Given the description of an element on the screen output the (x, y) to click on. 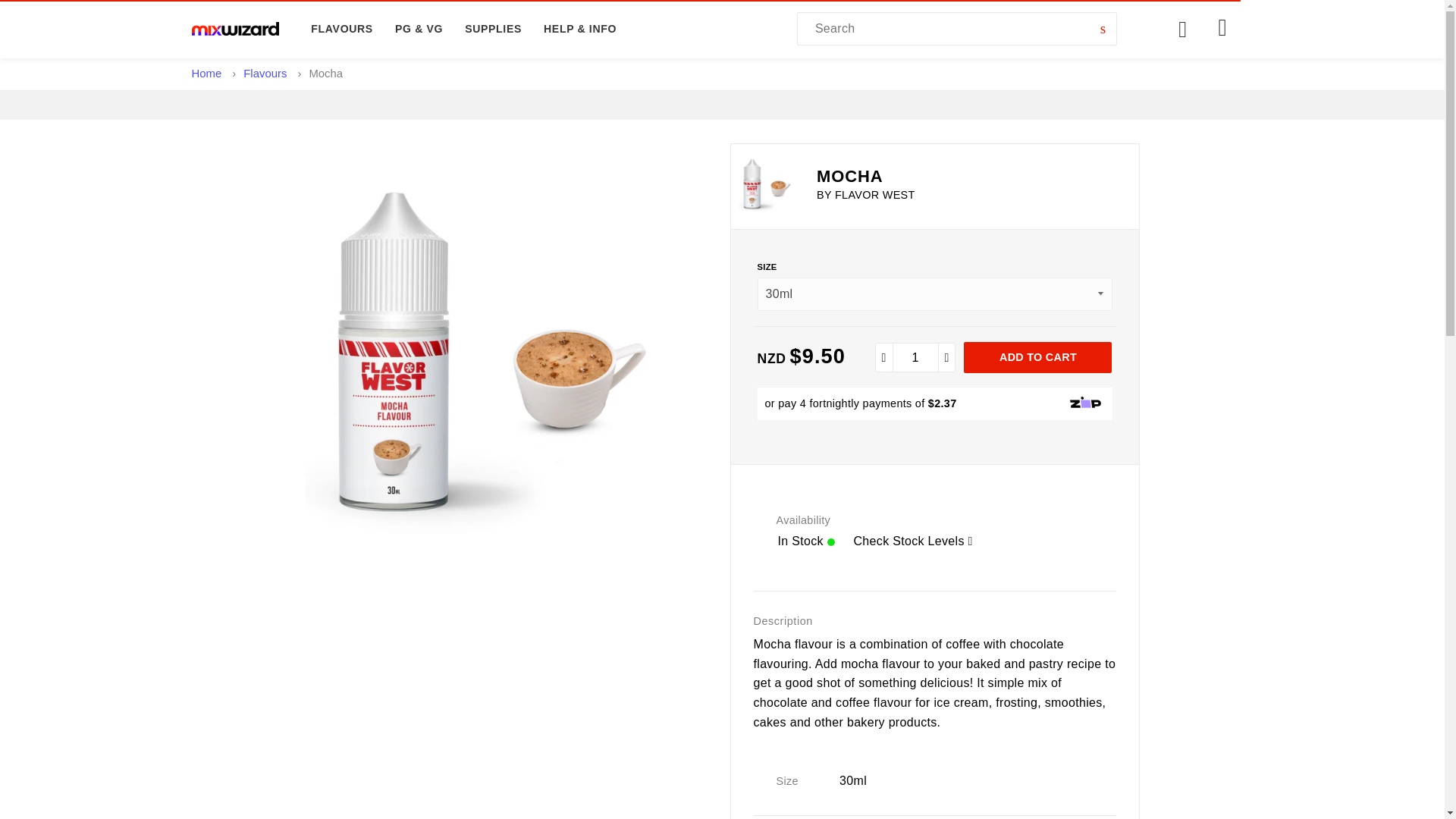
FLAVOURS (341, 29)
1 (915, 358)
SUPPLIES (493, 29)
Flavours (341, 29)
Supplies (493, 29)
